Given the description of an element on the screen output the (x, y) to click on. 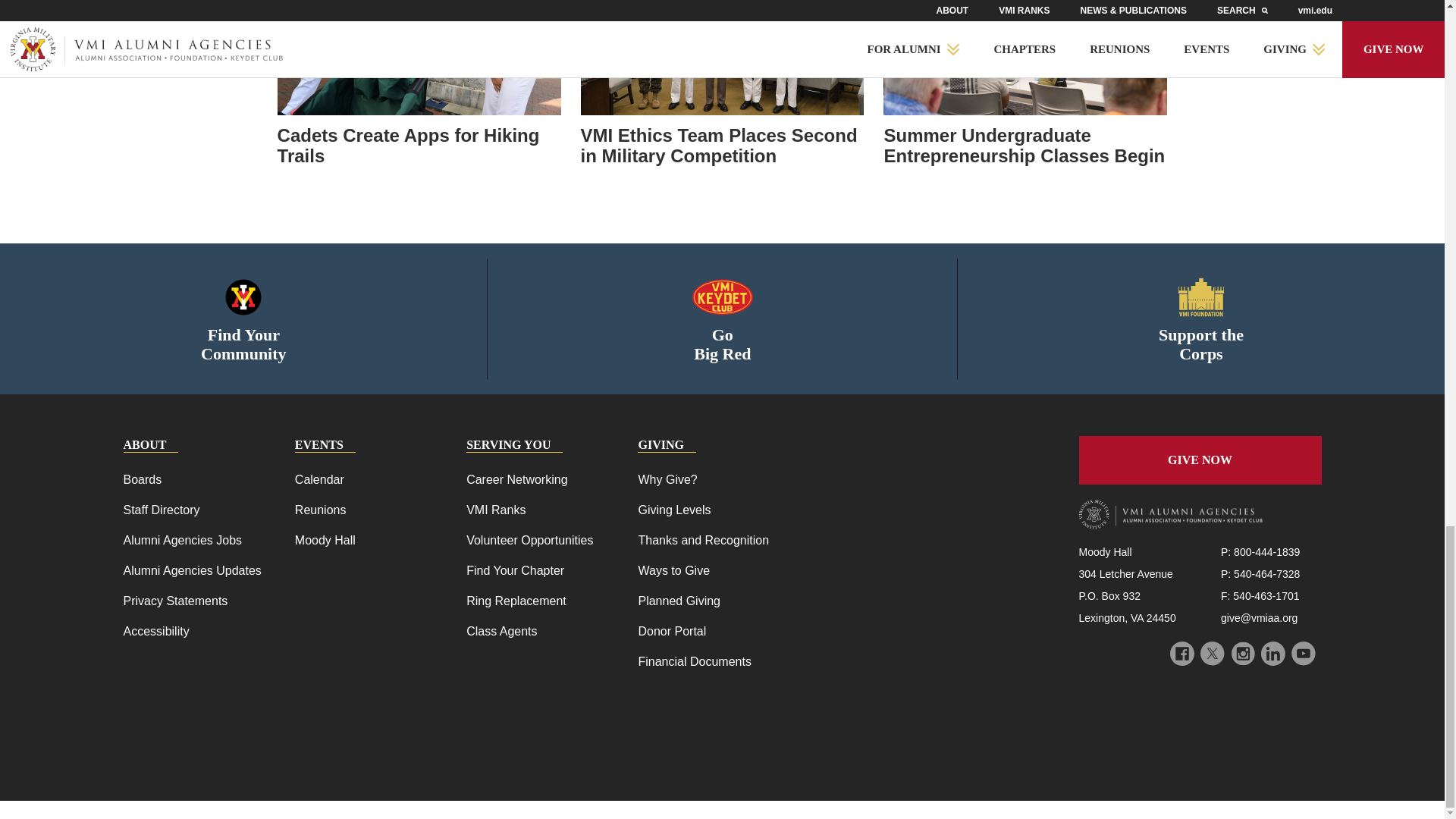
VMI Ethics Team Places Second in Military Competition (722, 146)
facebook (1181, 653)
vmi-building (1200, 297)
instagram (1241, 653)
twitter (1211, 653)
linkedin (1272, 653)
youtube (1302, 653)
Cadets Create Apps for Hiking Trails (419, 146)
